Given the description of an element on the screen output the (x, y) to click on. 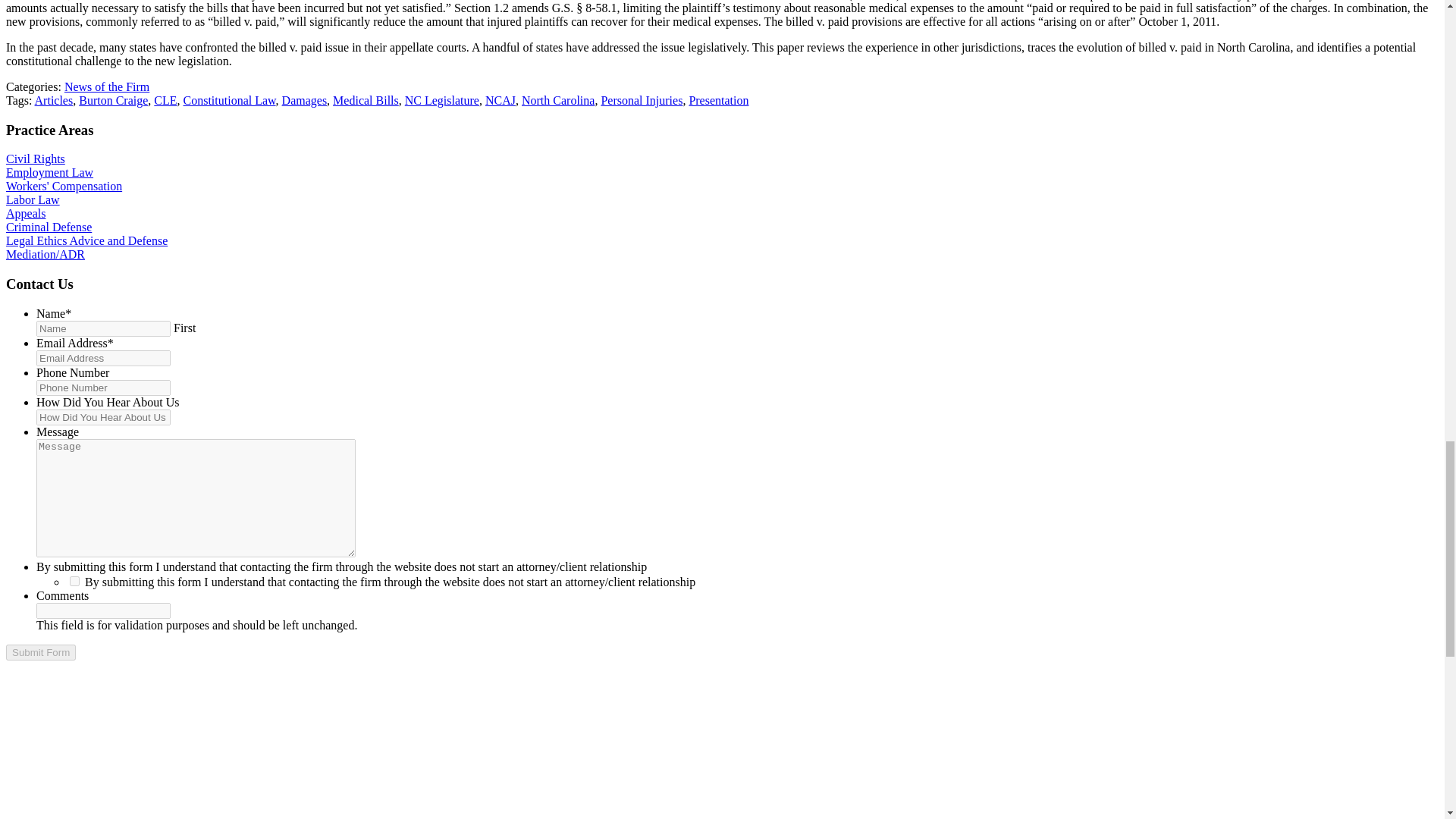
Click for more North Carolina information (557, 100)
Click for more Burton Craige information (113, 100)
Read more about Civil Rights (35, 158)
Read more about Workers' Compensation (63, 185)
Click for more Medical Bills information (365, 100)
Click for more News of the Firm information (106, 86)
Submit Form (40, 652)
Read more about Criminal Defense (48, 226)
Click for more NC Legislature information (441, 100)
Click for more Damages information (304, 100)
